Given the description of an element on the screen output the (x, y) to click on. 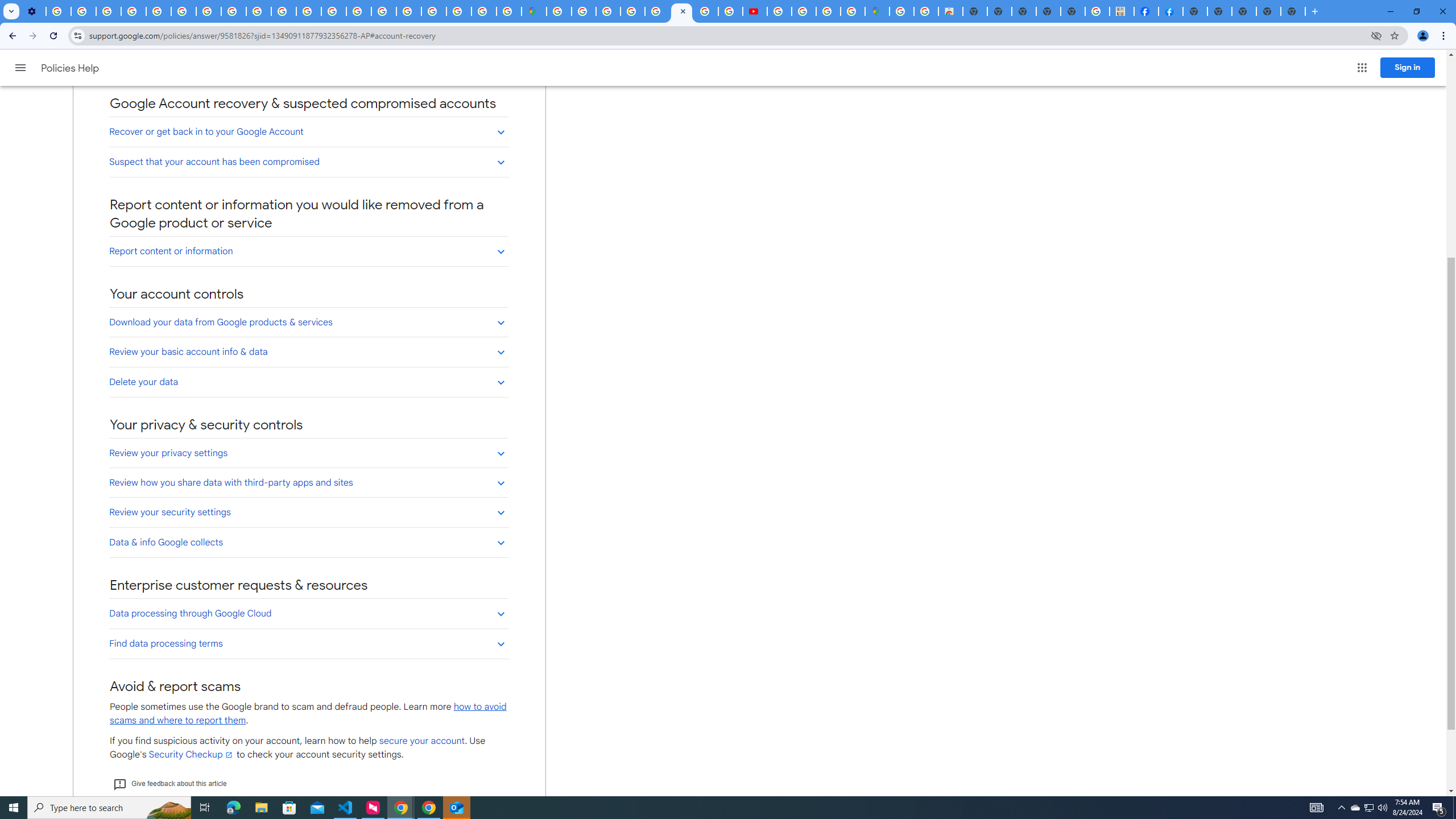
Download your data from Google products & services (308, 322)
Find data processing terms (308, 643)
Privacy Help Center - Policies Help (705, 11)
Sign Up for Facebook (1170, 11)
Learn how to find your photos - Google Photos Help (83, 11)
Settings - Customize profile (33, 11)
secure your account (421, 740)
